Given the description of an element on the screen output the (x, y) to click on. 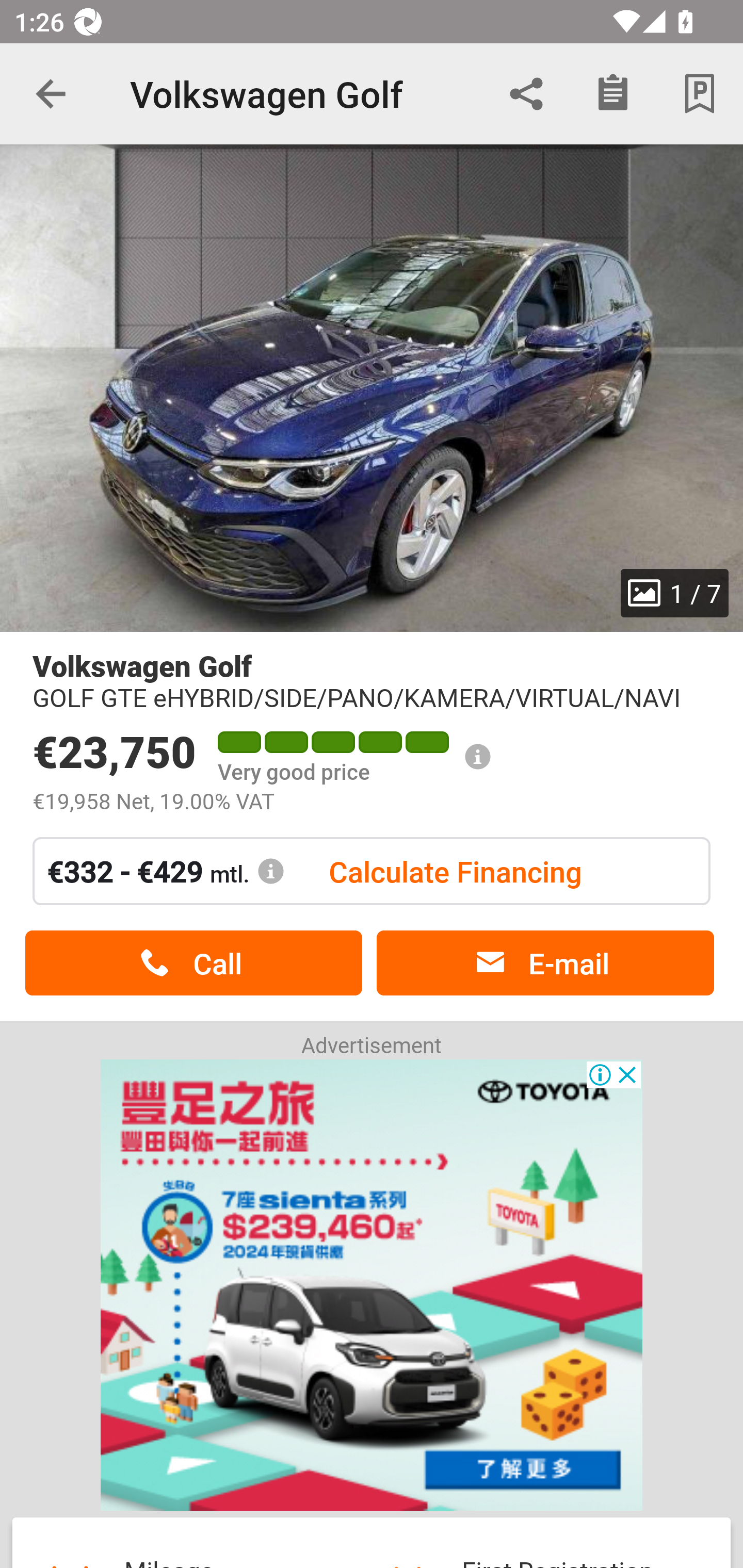
Navigate up (50, 93)
Share via (525, 93)
Checklist (612, 93)
Park (699, 93)
Calculate Financing (454, 870)
€332 - €429 mtl. (165, 870)
Call (193, 963)
E-mail (545, 963)
Advertisement (371, 1285)
